Given the description of an element on the screen output the (x, y) to click on. 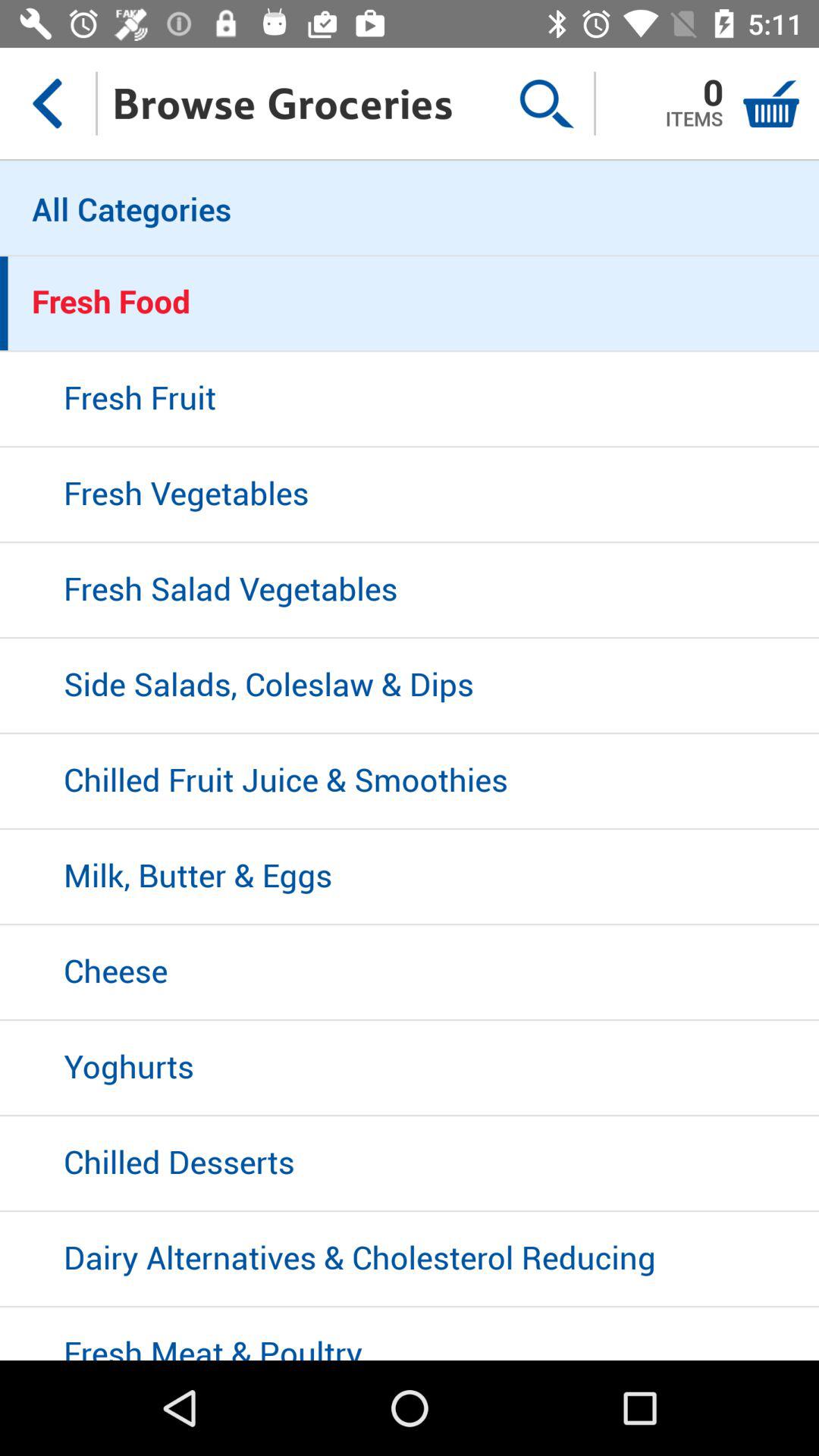
jump until the fresh fruit icon (409, 399)
